Given the description of an element on the screen output the (x, y) to click on. 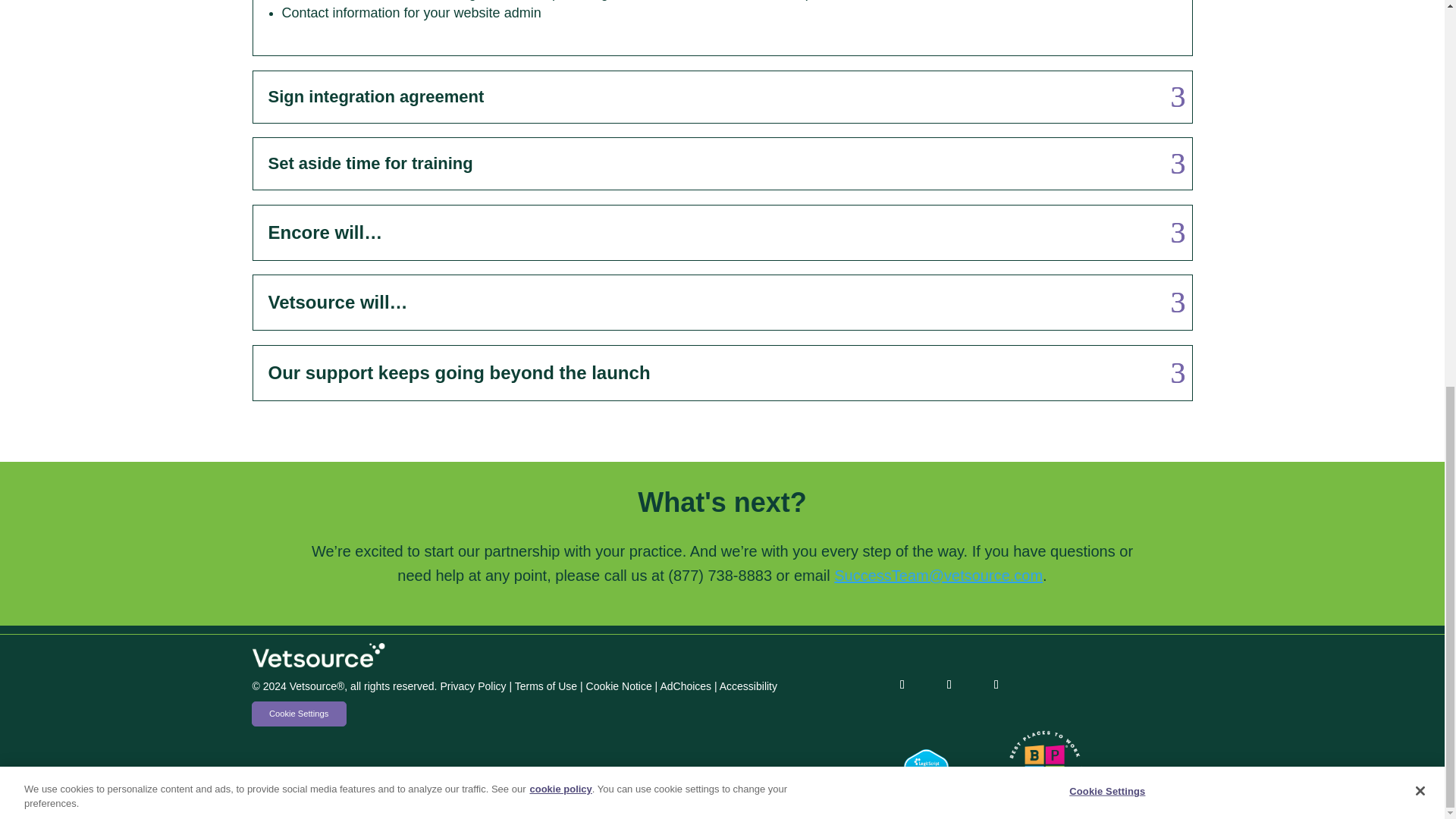
Cookie Notice (619, 686)
Follow on LinkedIn (954, 684)
Privacy Policy (472, 686)
AdChoices (685, 686)
Verify LegitScript Approval (926, 793)
Terms of Use (545, 686)
Follow on Instagram (1000, 684)
Cookie Settings (298, 713)
Accessibility (748, 686)
Privacy Policy (472, 686)
Vetsource (317, 654)
Cookie Settings (1106, 61)
Follow on Facebook (906, 684)
2023 BPTW Circle Logo (1045, 767)
Terms of Use (545, 686)
